Given the description of an element on the screen output the (x, y) to click on. 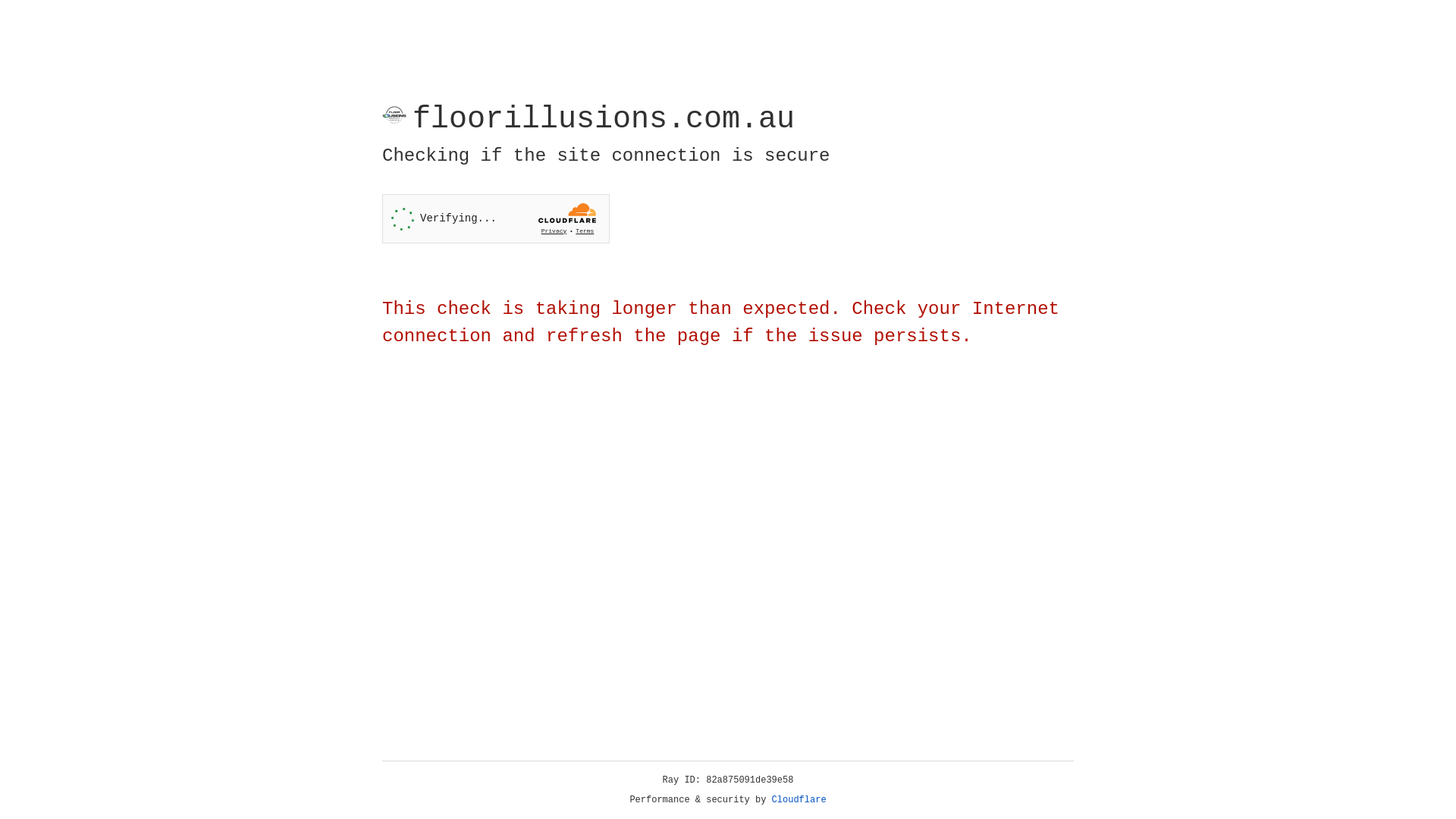
Cloudflare Element type: text (798, 799)
Widget containing a Cloudflare security challenge Element type: hover (495, 218)
